Given the description of an element on the screen output the (x, y) to click on. 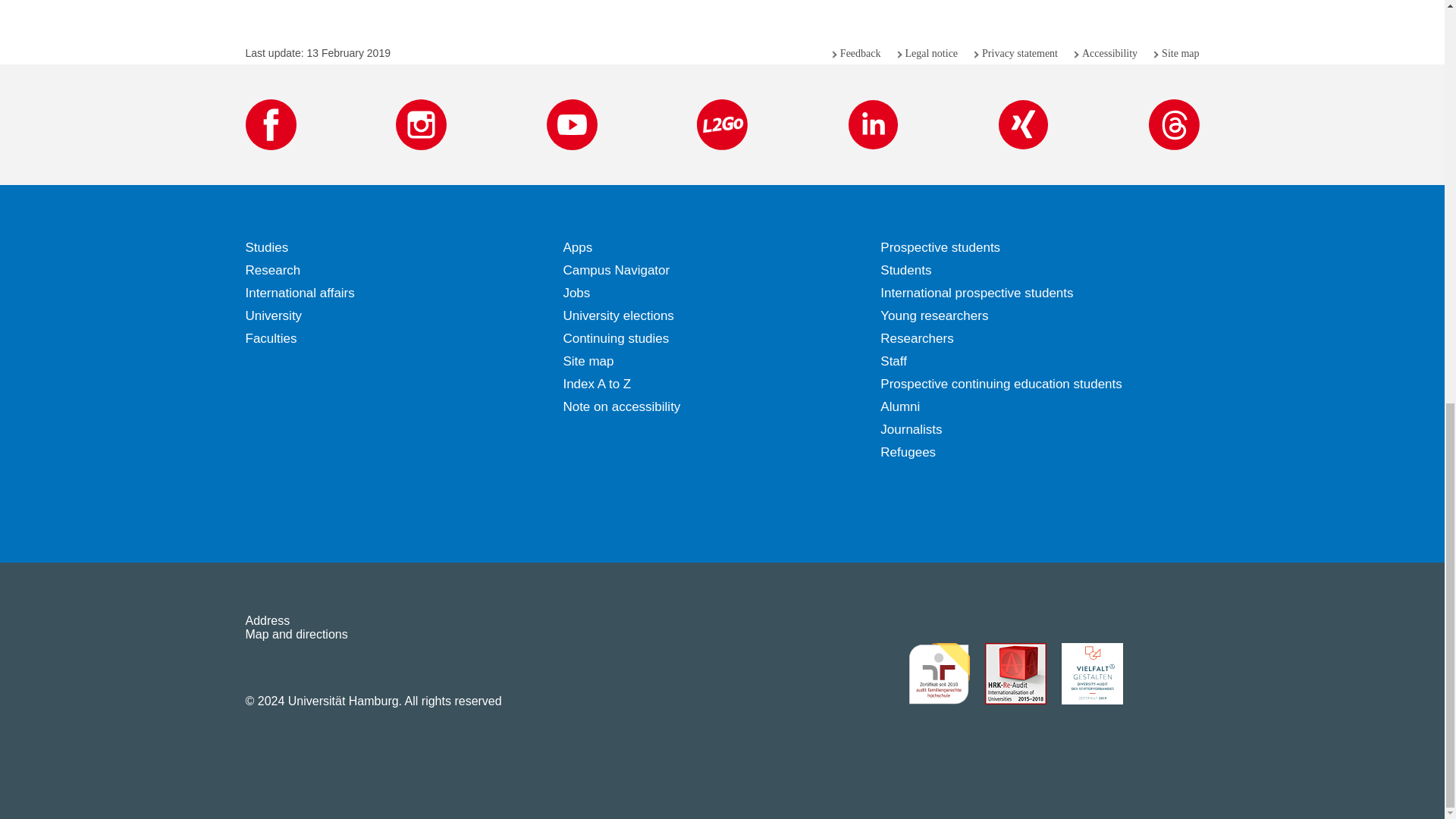
Go to internationalisation re-audit (1014, 673)
Go to family-friendly higher education institution audit (938, 673)
Go to System accreditation (1167, 673)
Go to Diversity Audit (1091, 673)
